Given the description of an element on the screen output the (x, y) to click on. 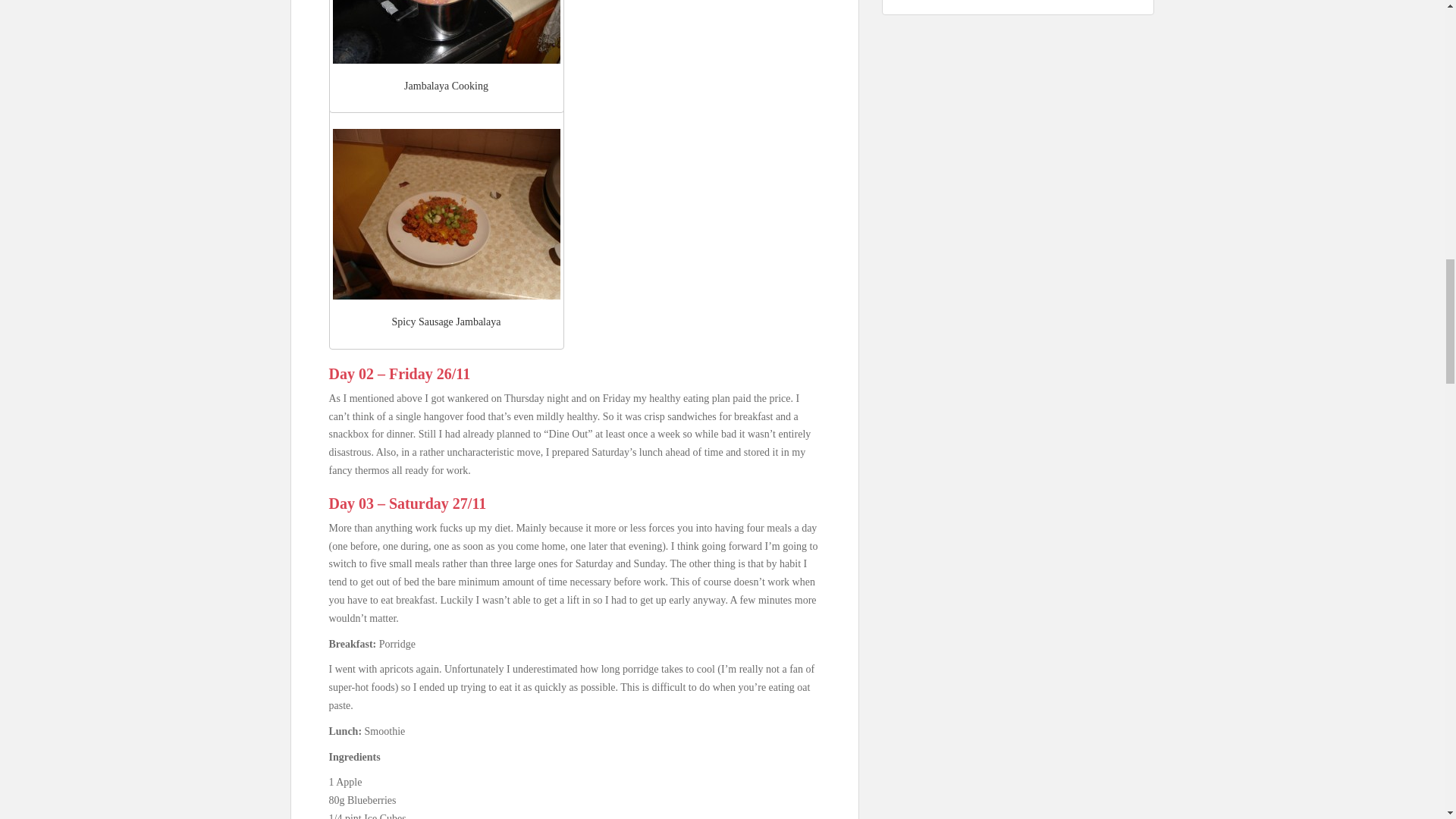
Jambalaya Cooking (445, 31)
Jambalaya (445, 213)
